Given the description of an element on the screen output the (x, y) to click on. 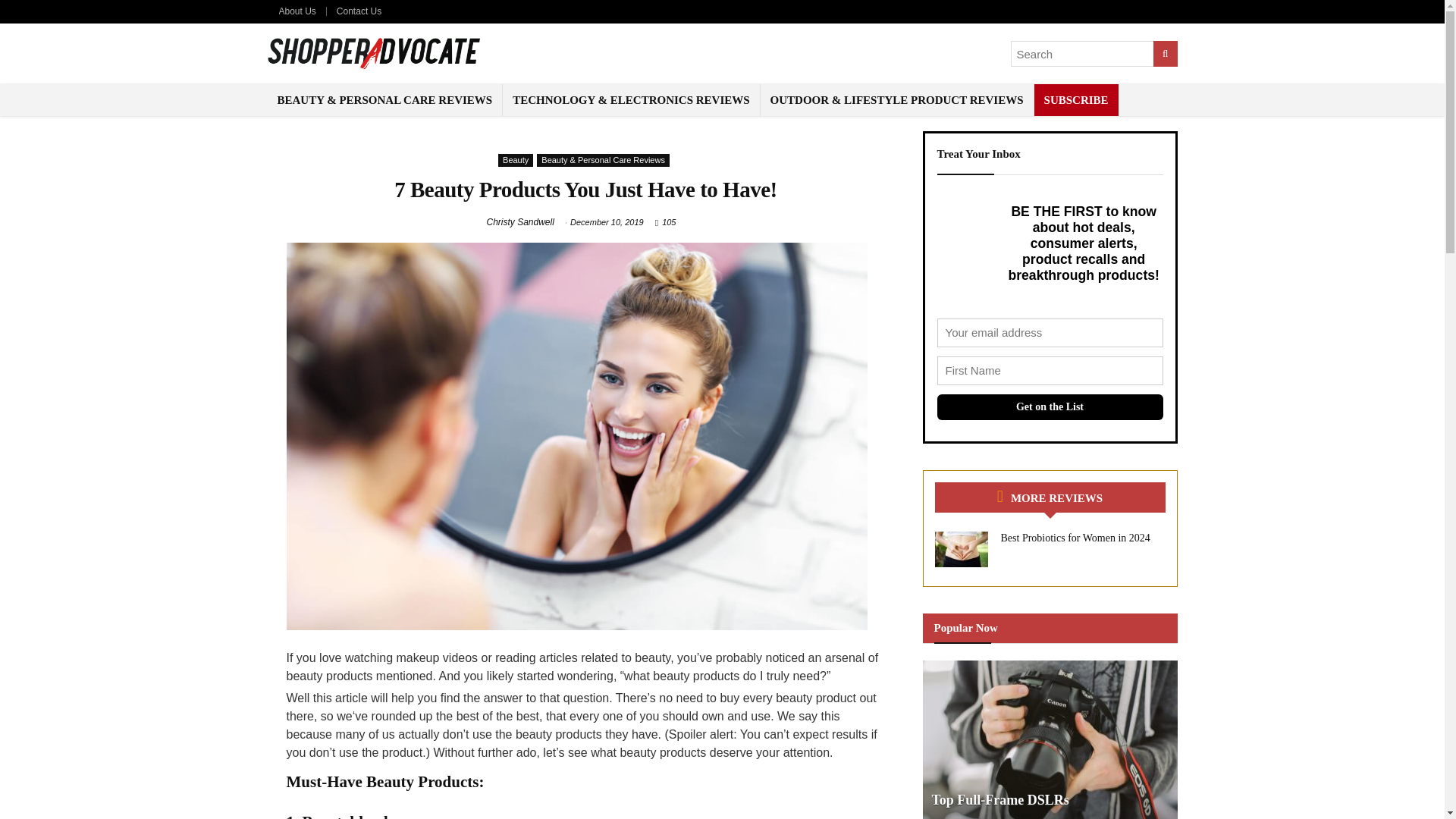
Contact Us (358, 10)
View all posts in Beauty (514, 160)
SUBSCRIBE (1075, 100)
Get on the List (1050, 406)
Christy Sandwell (520, 222)
Beauty (514, 160)
Get on the List (1050, 406)
About Us (297, 10)
